Given the description of an element on the screen output the (x, y) to click on. 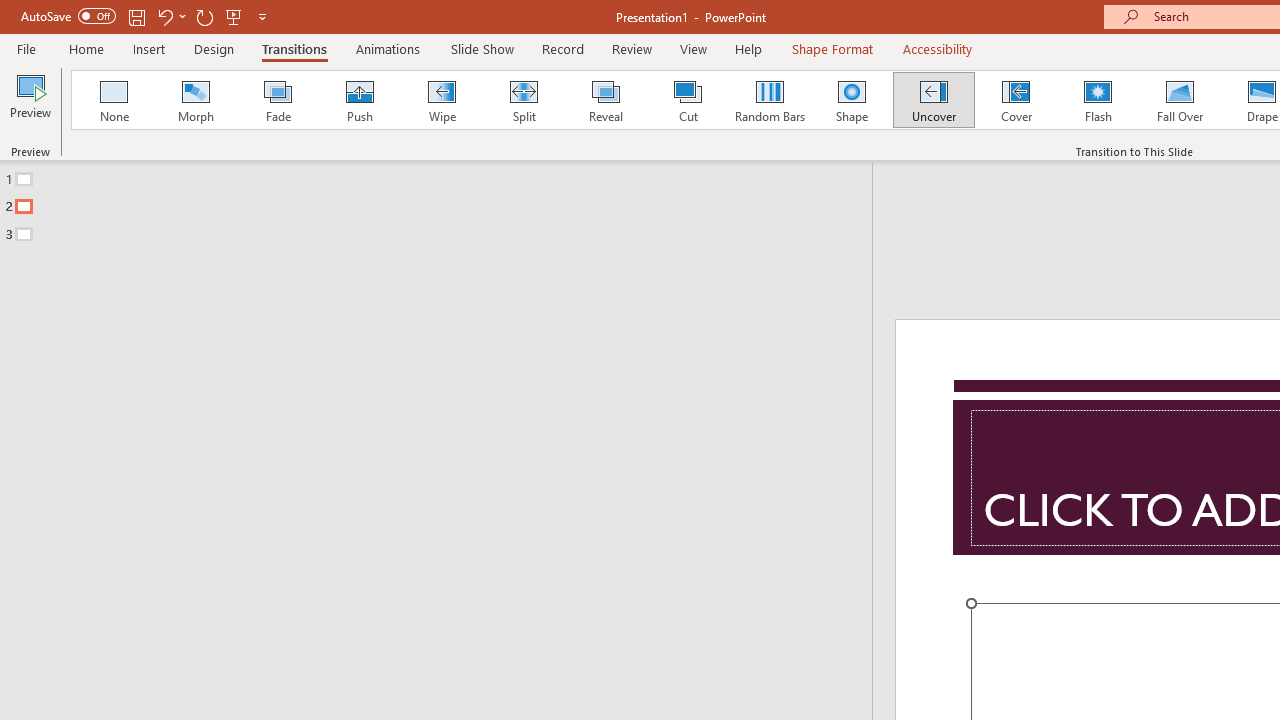
None (113, 100)
Random Bars (770, 100)
Shape (852, 100)
Push (359, 100)
Flash (1098, 100)
Fall Over (1180, 100)
